Given the description of an element on the screen output the (x, y) to click on. 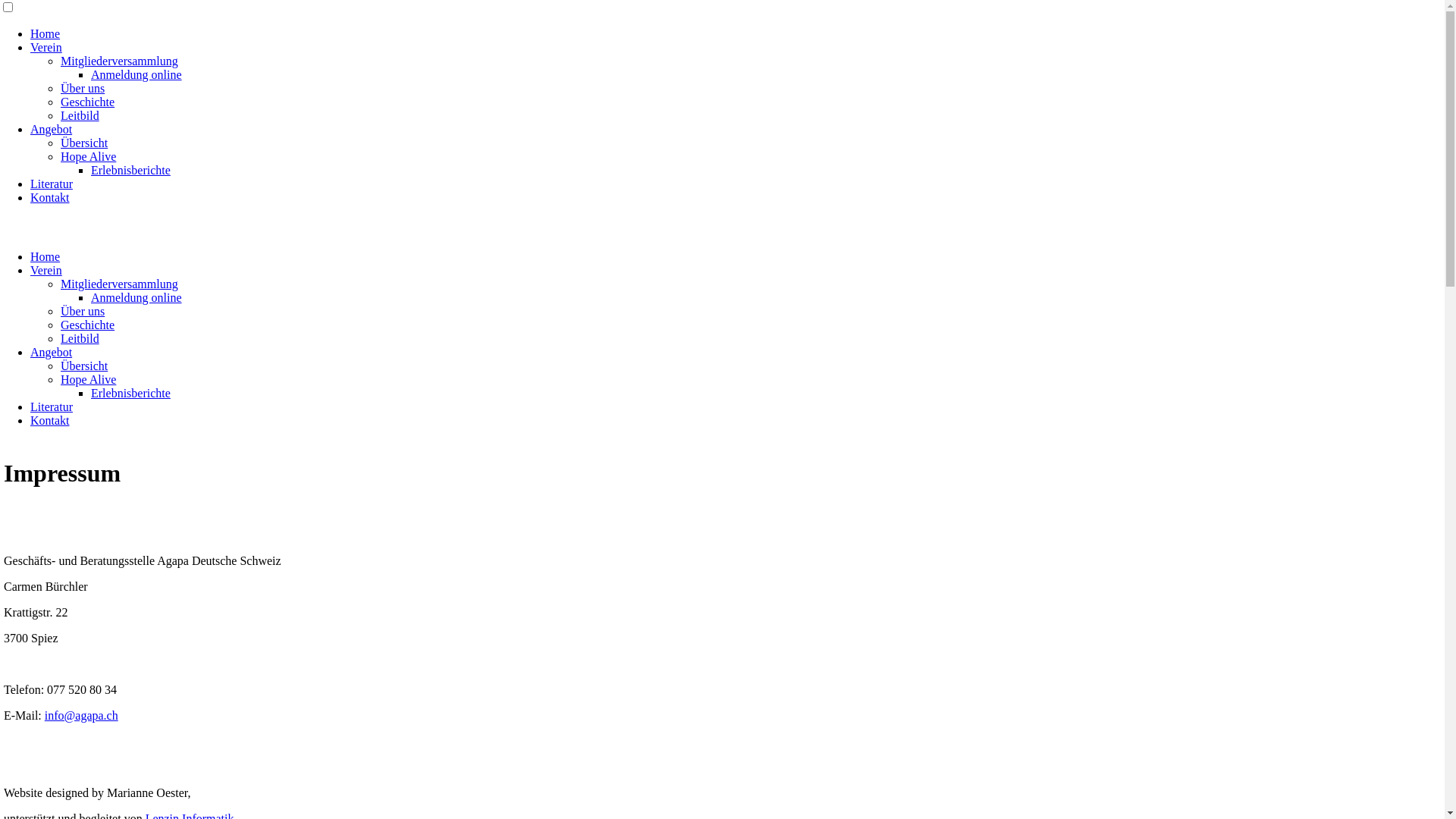
info@agapa.ch Element type: text (81, 715)
Kontakt Element type: text (49, 197)
Verein Element type: text (46, 46)
Kontakt Element type: text (49, 420)
Mitgliederversammlung Element type: text (119, 283)
Verein Element type: text (46, 269)
Geschichte Element type: text (87, 324)
Erlebnisberichte Element type: text (130, 392)
Angebot Element type: text (51, 128)
Home Element type: text (44, 256)
Hope Alive Element type: text (88, 379)
Leitbild Element type: text (79, 115)
Angebot Element type: text (51, 351)
Geschichte Element type: text (87, 101)
Anmeldung online Element type: text (136, 74)
Hope Alive Element type: text (88, 156)
Literatur Element type: text (51, 406)
Anmeldung online Element type: text (136, 297)
Erlebnisberichte Element type: text (130, 169)
Mitgliederversammlung Element type: text (119, 60)
Leitbild Element type: text (79, 338)
Home Element type: text (44, 33)
Literatur Element type: text (51, 183)
